Given the description of an element on the screen output the (x, y) to click on. 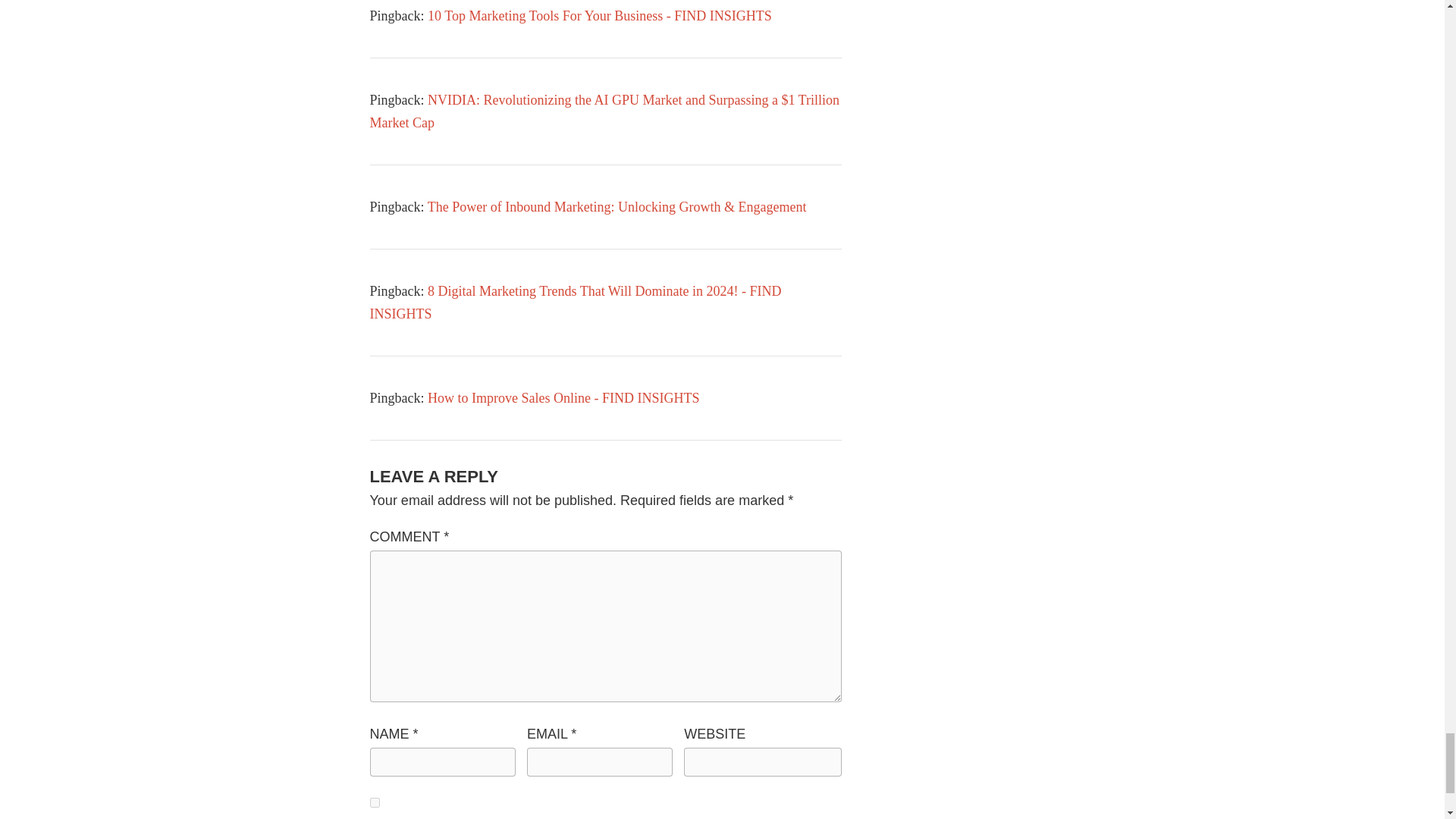
yes (374, 802)
